Given the description of an element on the screen output the (x, y) to click on. 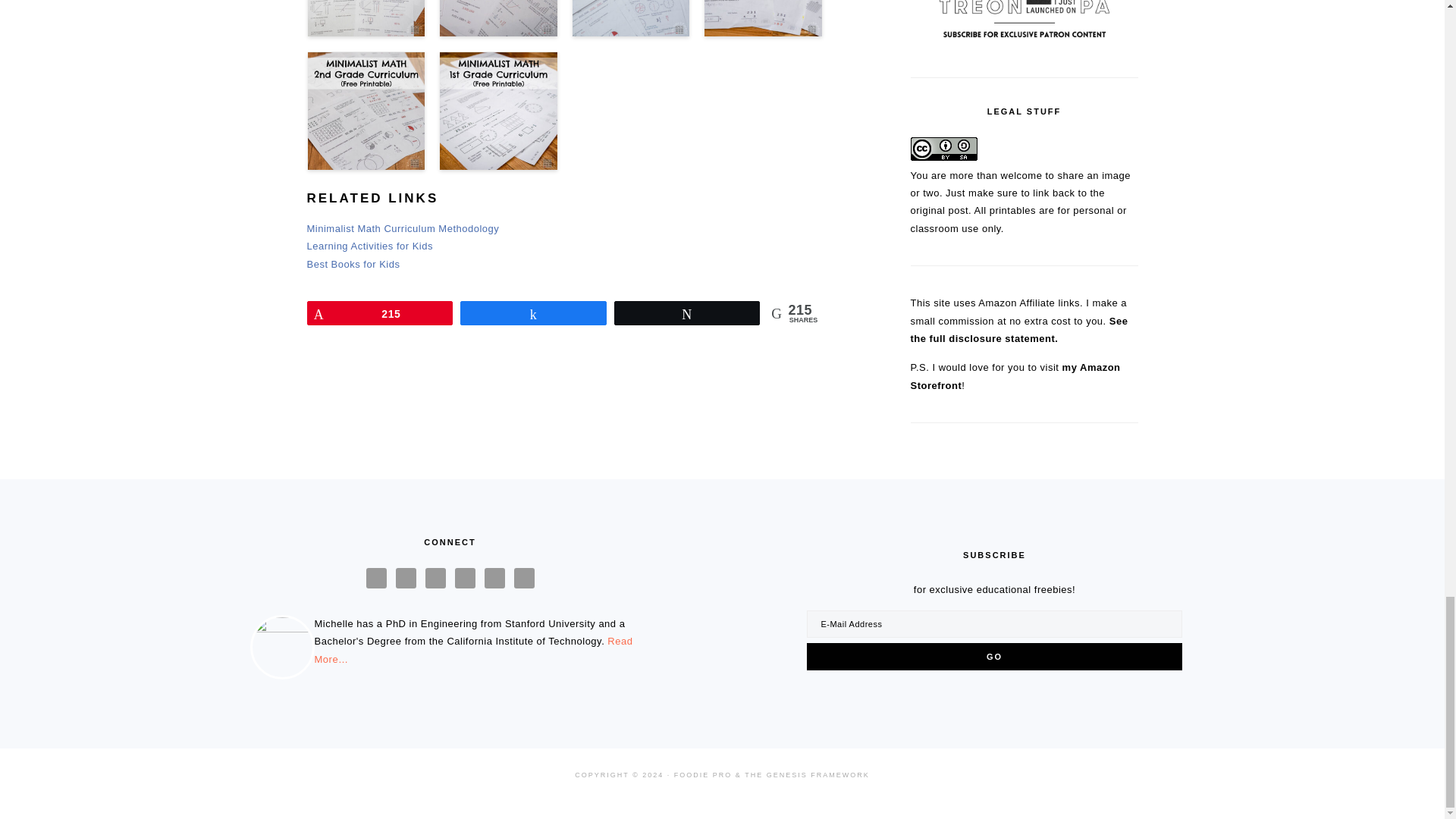
Go (993, 656)
